Given the description of an element on the screen output the (x, y) to click on. 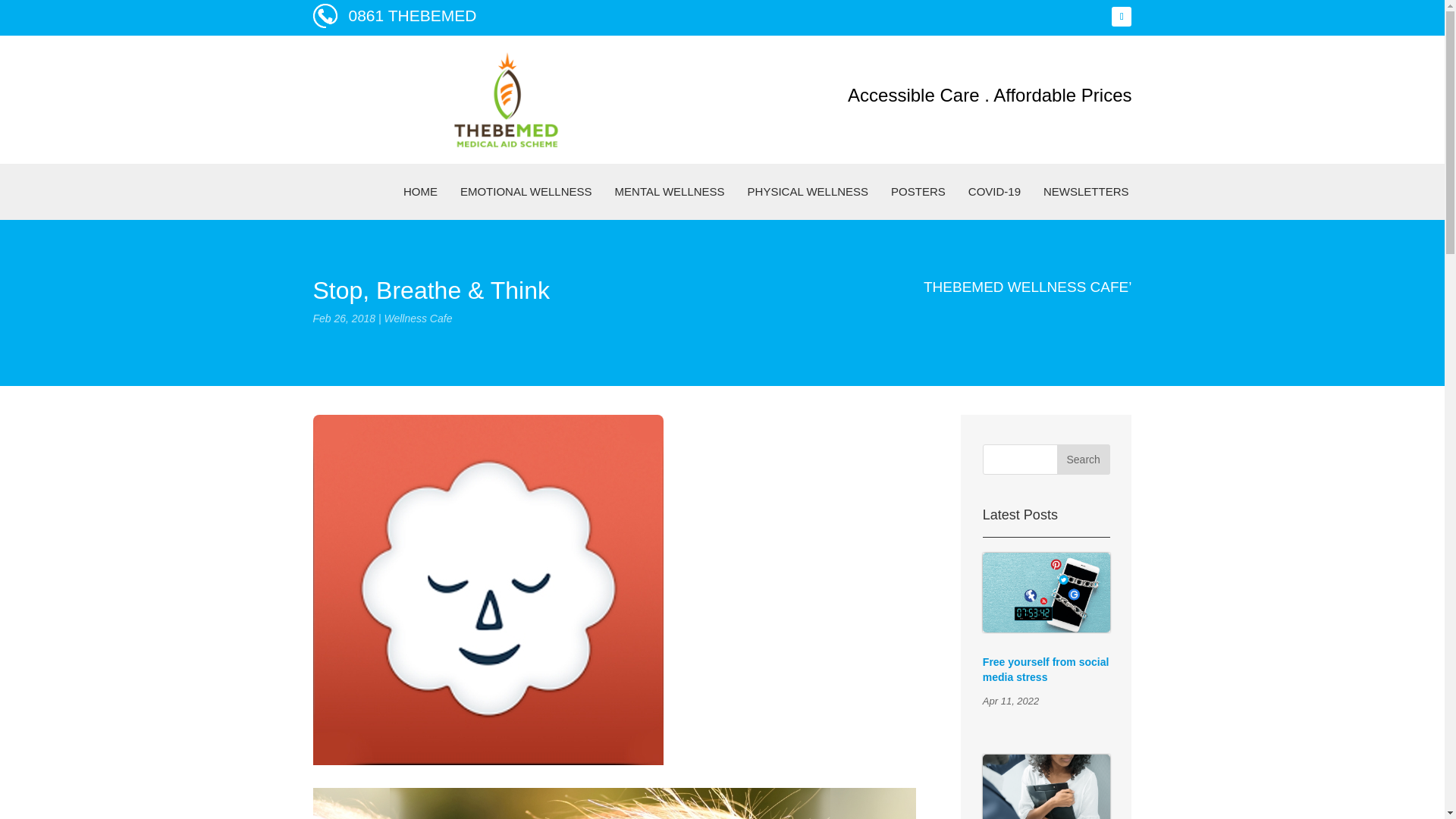
Wellness Cafe (417, 318)
NEWSLETTERS (1086, 191)
Thebemed Logo (505, 99)
POSTERS (917, 191)
MENTAL WELLNESS (670, 191)
Free yourself from social media stress (1045, 669)
Follow on Facebook (1121, 16)
HOME (419, 191)
Search (1083, 459)
PHYSICAL WELLNESS (808, 191)
